Given the description of an element on the screen output the (x, y) to click on. 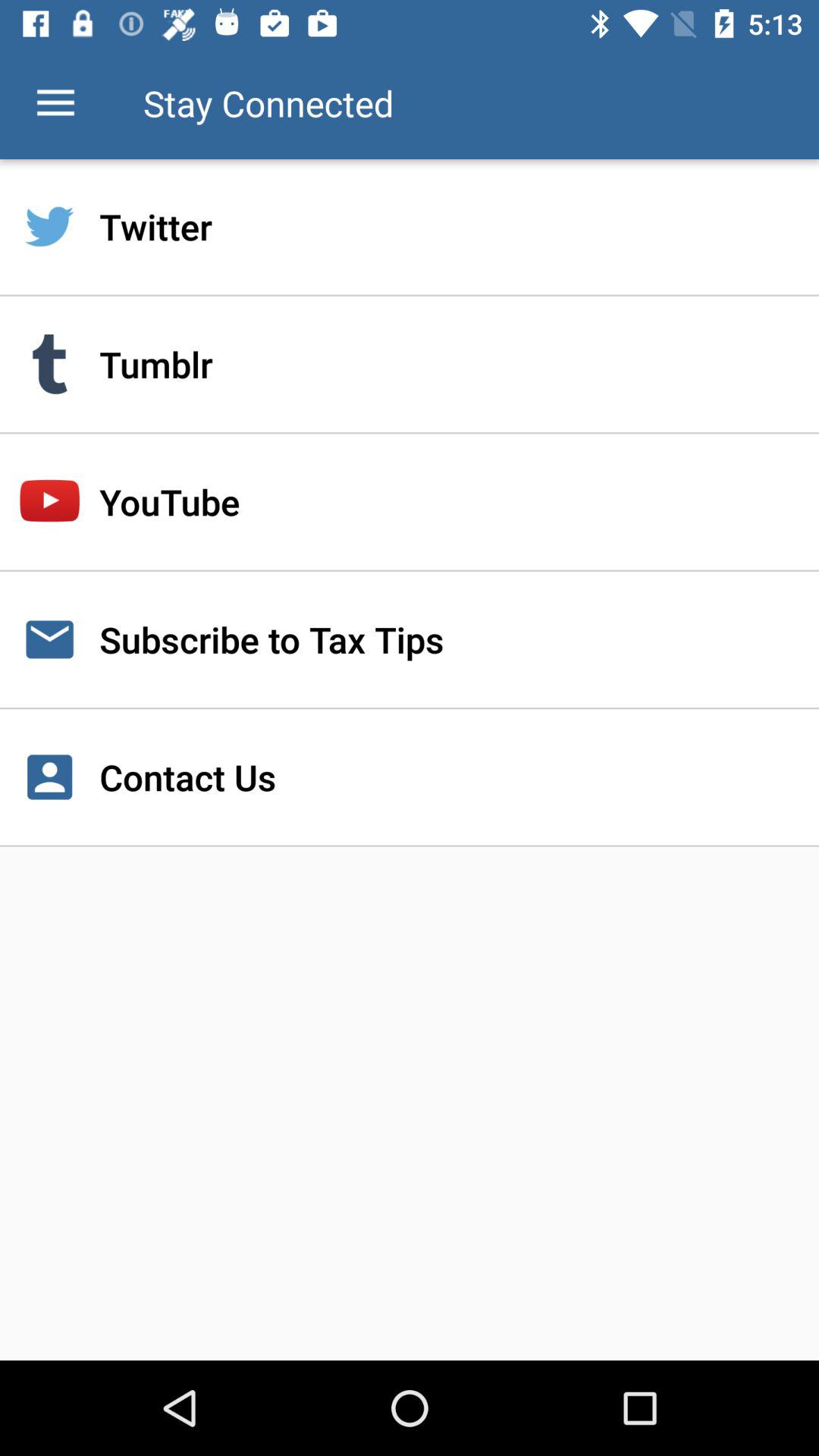
select the contact us icon (409, 777)
